Given the description of an element on the screen output the (x, y) to click on. 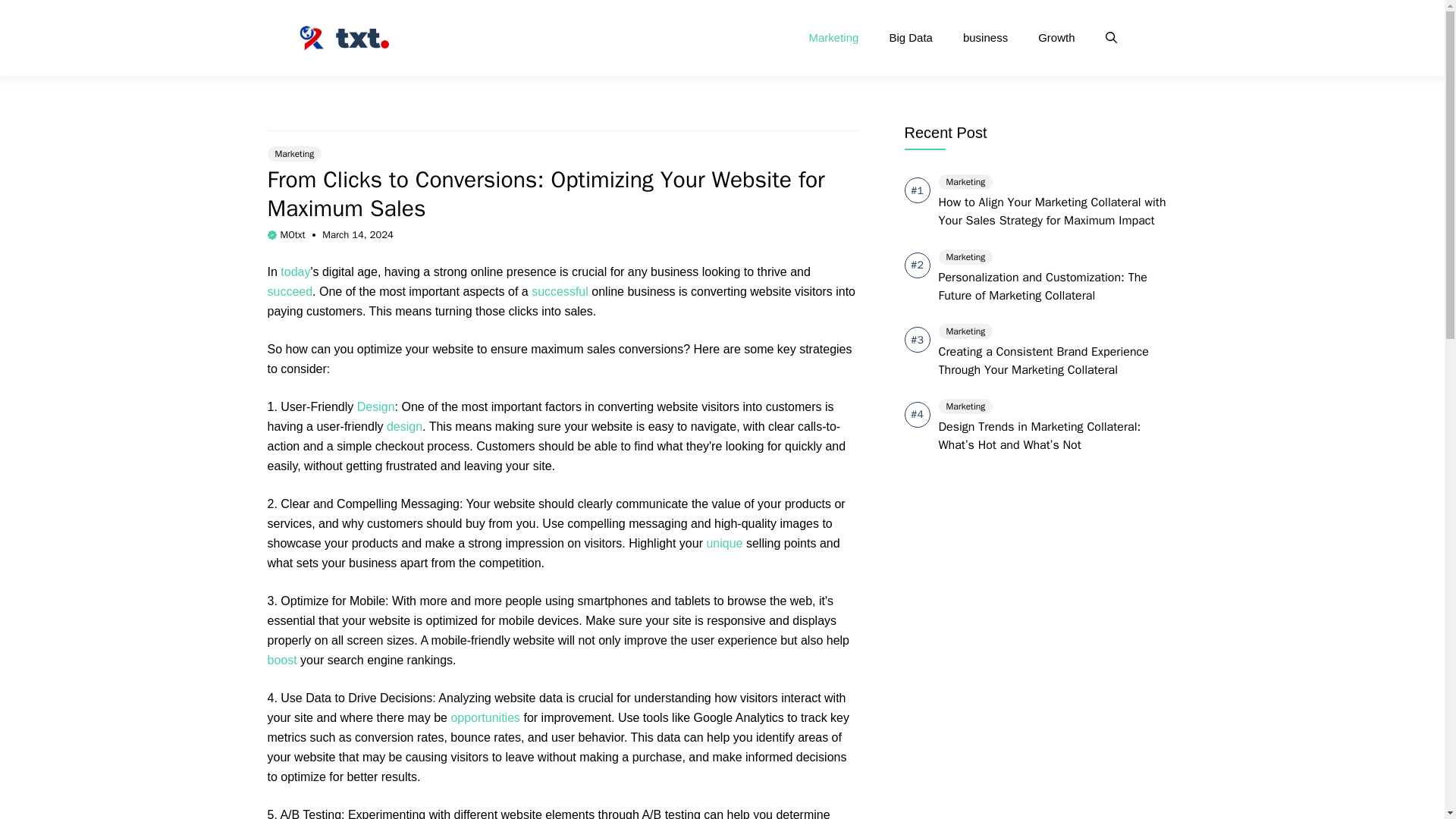
Marketing (834, 37)
design (404, 426)
MOtxt (293, 234)
Big Data (910, 37)
boost (281, 659)
Posts tagged with Design (404, 426)
business (985, 37)
today (295, 271)
Posts tagged with Unique (724, 543)
successful (559, 291)
